Given the description of an element on the screen output the (x, y) to click on. 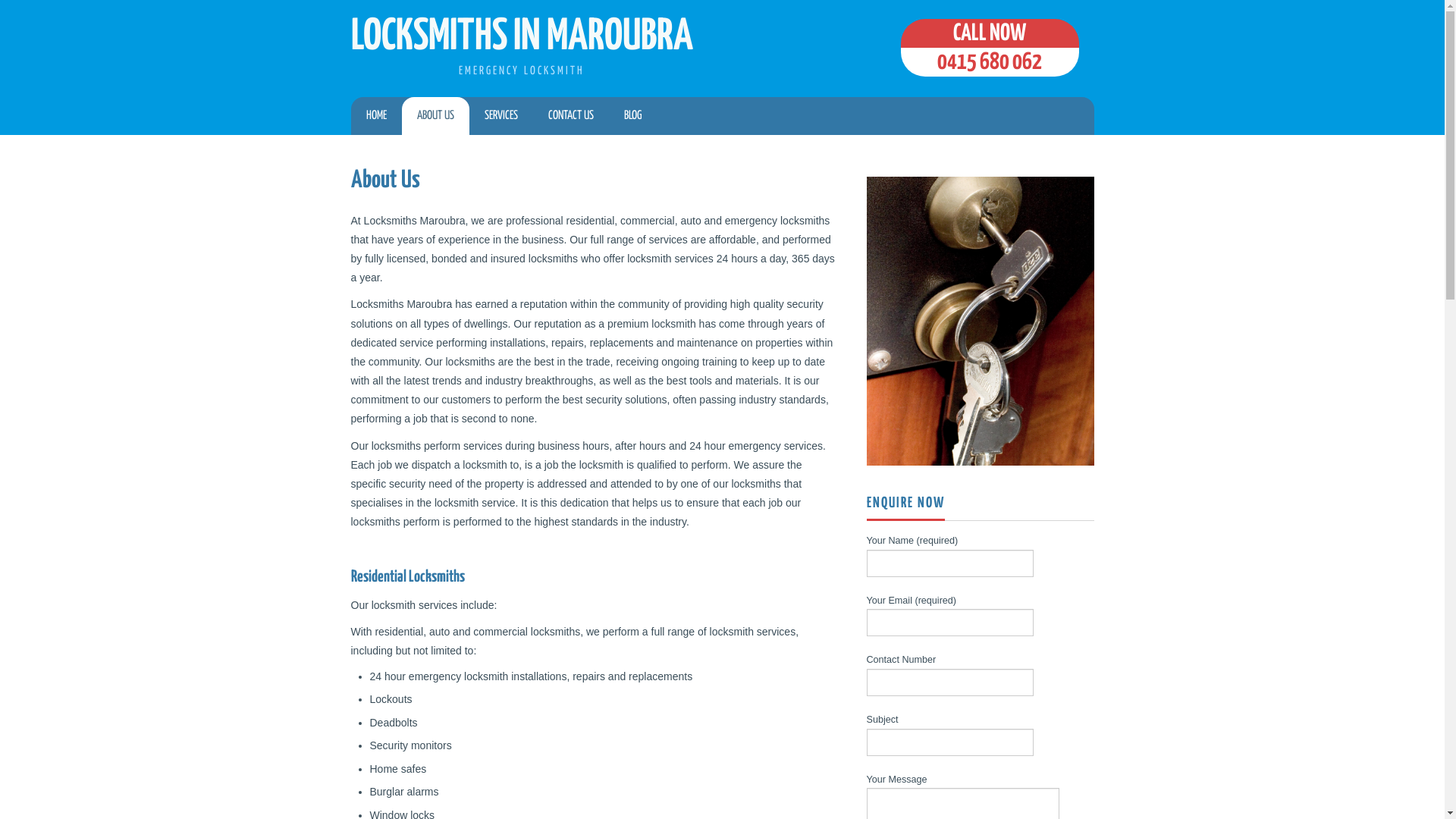
LOCKSMITHS IN MAROUBRA Element type: text (521, 36)
HOME Element type: text (375, 115)
CONTACT US Element type: text (570, 115)
CALL NOW
0415 680 062 Element type: text (989, 47)
ABOUT US Element type: text (435, 115)
Locksmiths Maroubra Lock & Key Element type: hover (979, 320)
SERVICES Element type: text (500, 115)
BLOG Element type: text (631, 115)
